Given the description of an element on the screen output the (x, y) to click on. 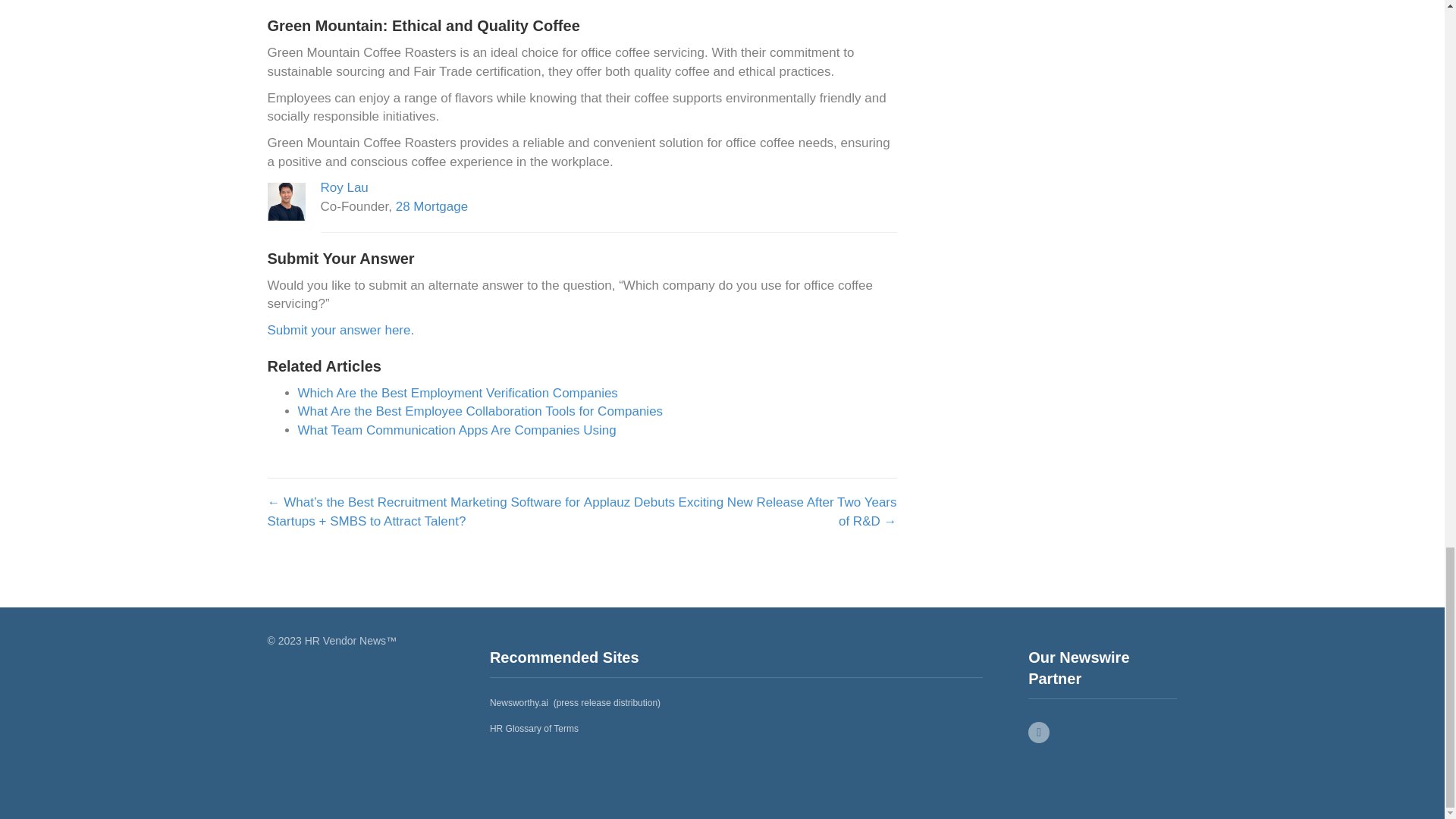
Submit your answer here. (339, 329)
Roy Lau (344, 187)
What Team Communication Apps Are Companies Using (456, 430)
What Are the Best Employee Collaboration Tools for Companies (479, 411)
28 Mortgage (431, 206)
Which Are the Best Employment Verification Companies (457, 392)
